Given the description of an element on the screen output the (x, y) to click on. 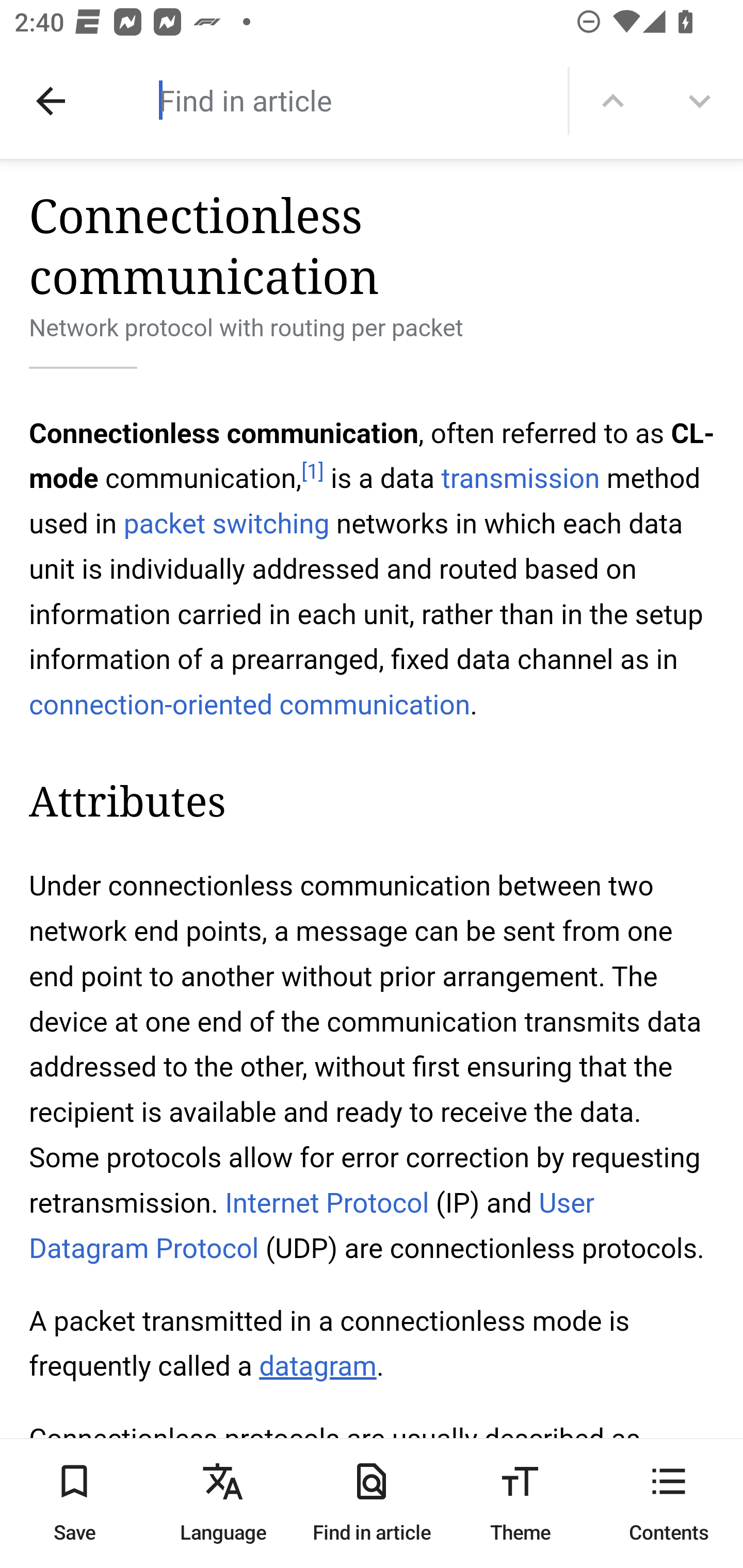
Navigate up (50, 101)
Find previous (612, 101)
More options (699, 101)
Find in article (334, 100)
[] [ 1 ] (312, 471)
transmission (520, 478)
packet switching (225, 523)
connection-oriented communication (249, 704)
User Datagram Protocol (311, 1225)
Internet Protocol (326, 1202)
datagram (317, 1367)
Save (74, 1502)
Language (222, 1502)
Find in article (371, 1502)
Theme (519, 1502)
Contents (668, 1502)
stateless protocols (145, 1484)
